Given the description of an element on the screen output the (x, y) to click on. 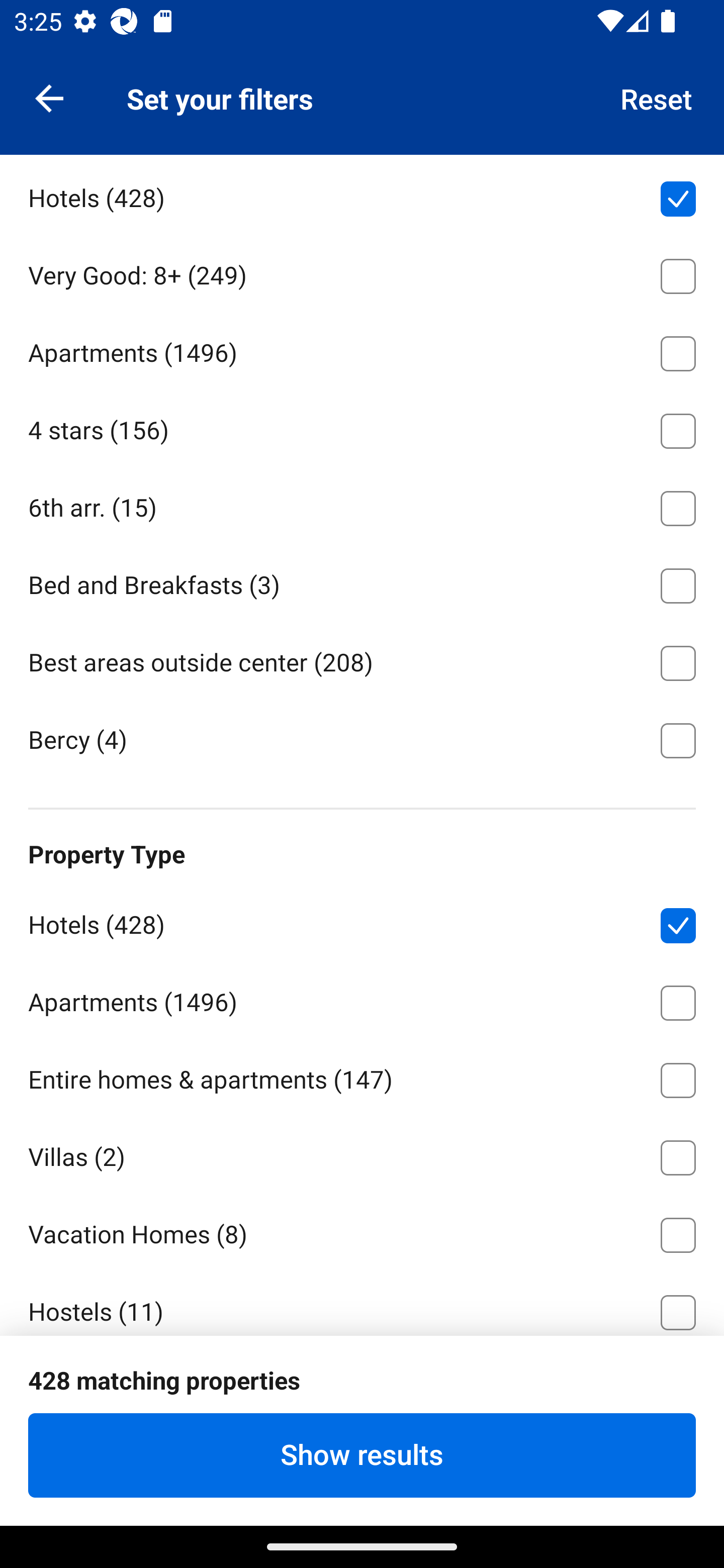
Navigate up (49, 97)
Reset (656, 97)
Hotels ⁦(428) (361, 194)
Very Good: 8+ ⁦(249) (361, 272)
Apartments ⁦(1496) (361, 350)
4 stars ⁦(156) (361, 426)
6th arr. ⁦(15) (361, 504)
Bed and Breakfasts ⁦(3) (361, 582)
Best areas outside center ⁦(208) (361, 659)
Bercy ⁦(4) (361, 739)
Hotels ⁦(428) (361, 921)
Apartments ⁦(1496) (361, 999)
Entire homes & apartments ⁦(147) (361, 1077)
Villas ⁦(2) (361, 1154)
Vacation Homes ⁦(8) (361, 1231)
Hostels ⁦(11) (361, 1302)
Guesthouses ⁦(2) (361, 1386)
Show results (361, 1454)
